Given the description of an element on the screen output the (x, y) to click on. 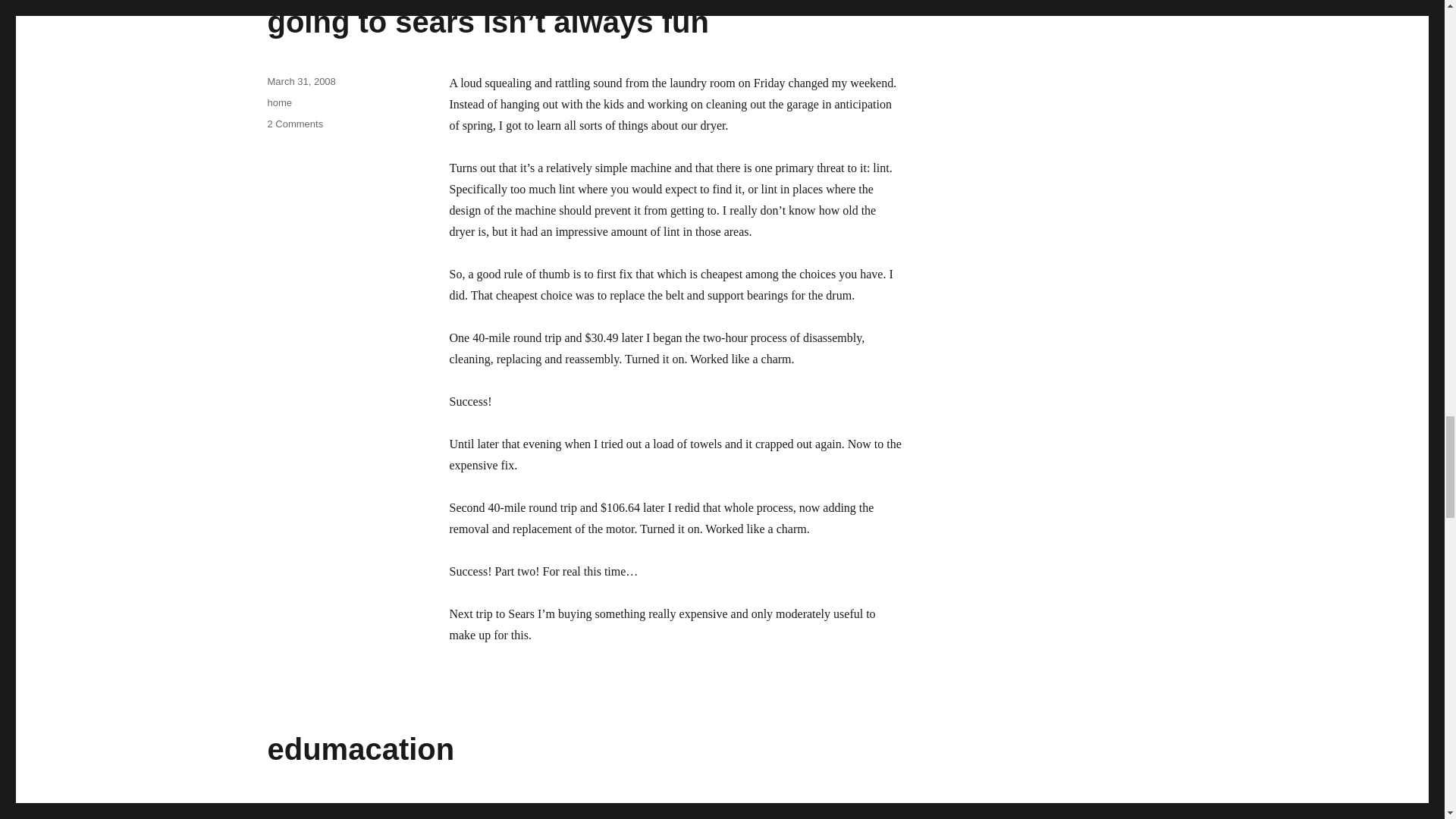
March 31, 2008 (300, 81)
March 14, 2008 (300, 808)
edumacation (360, 748)
home (279, 102)
